Given the description of an element on the screen output the (x, y) to click on. 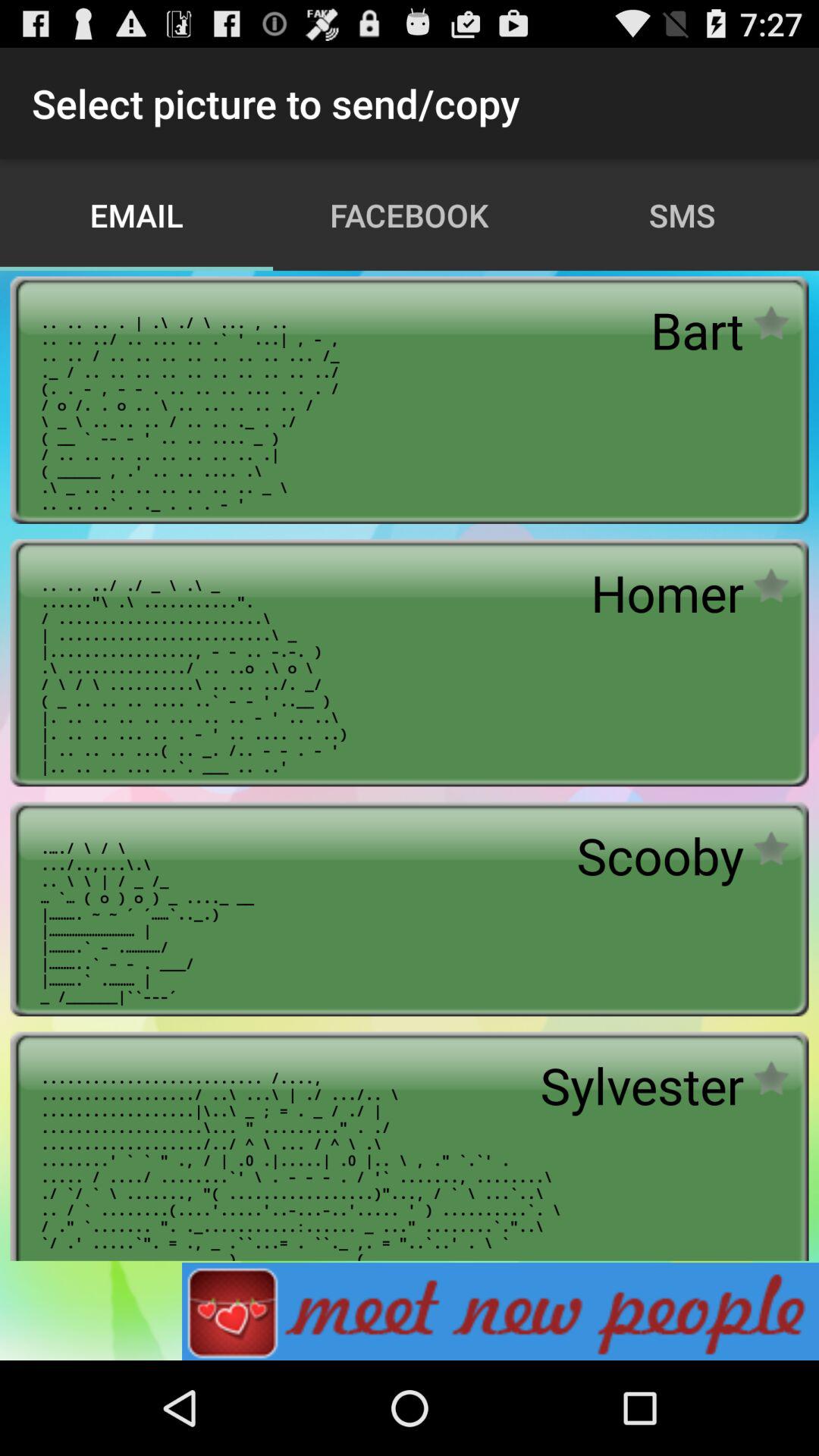
select the icon below the scooby item (641, 1085)
